Given the description of an element on the screen output the (x, y) to click on. 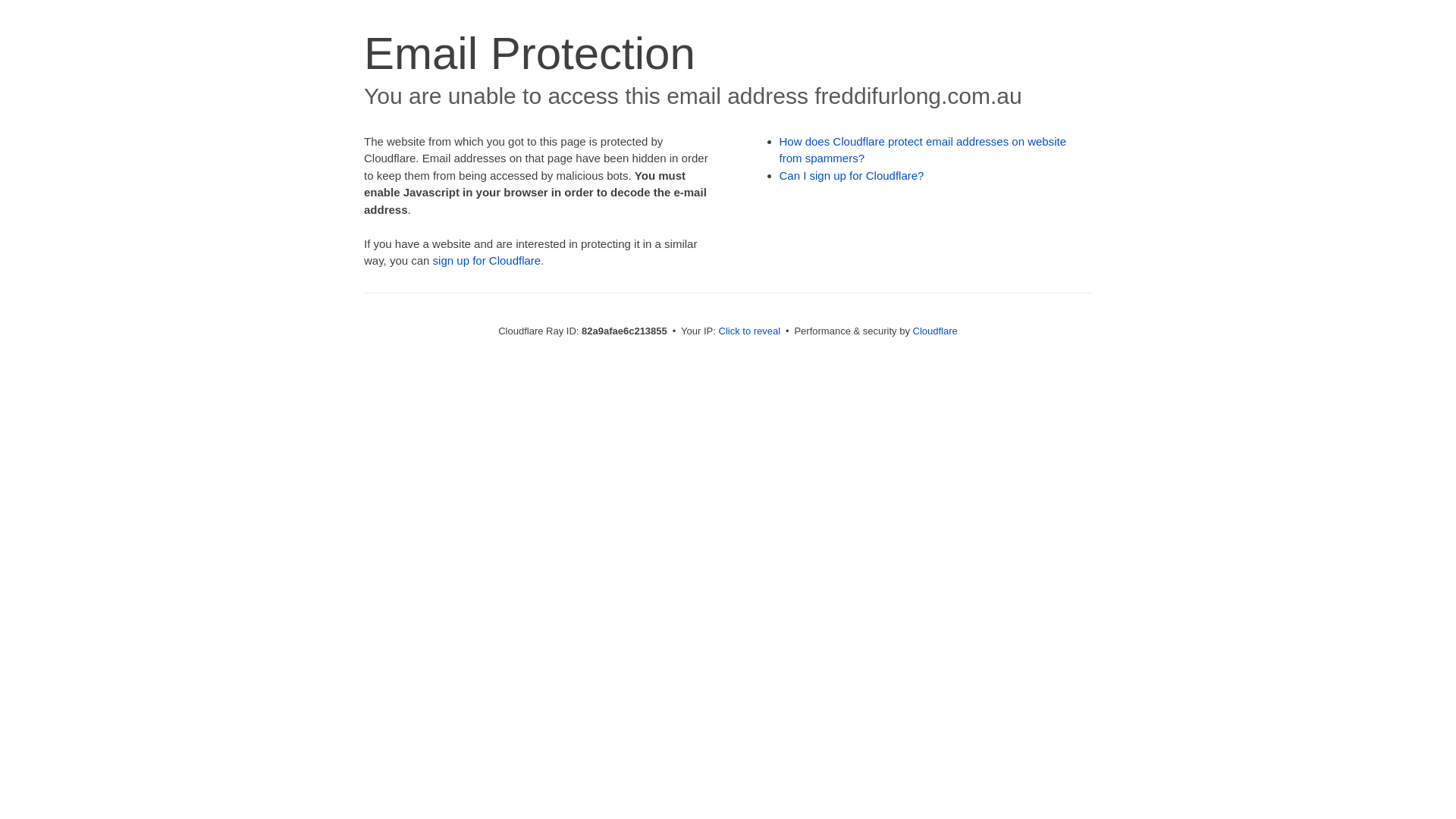
Can I sign up for Cloudflare? Element type: text (851, 175)
Cloudflare Element type: text (935, 330)
sign up for Cloudflare Element type: text (487, 260)
Click to reveal Element type: text (749, 330)
